Given the description of an element on the screen output the (x, y) to click on. 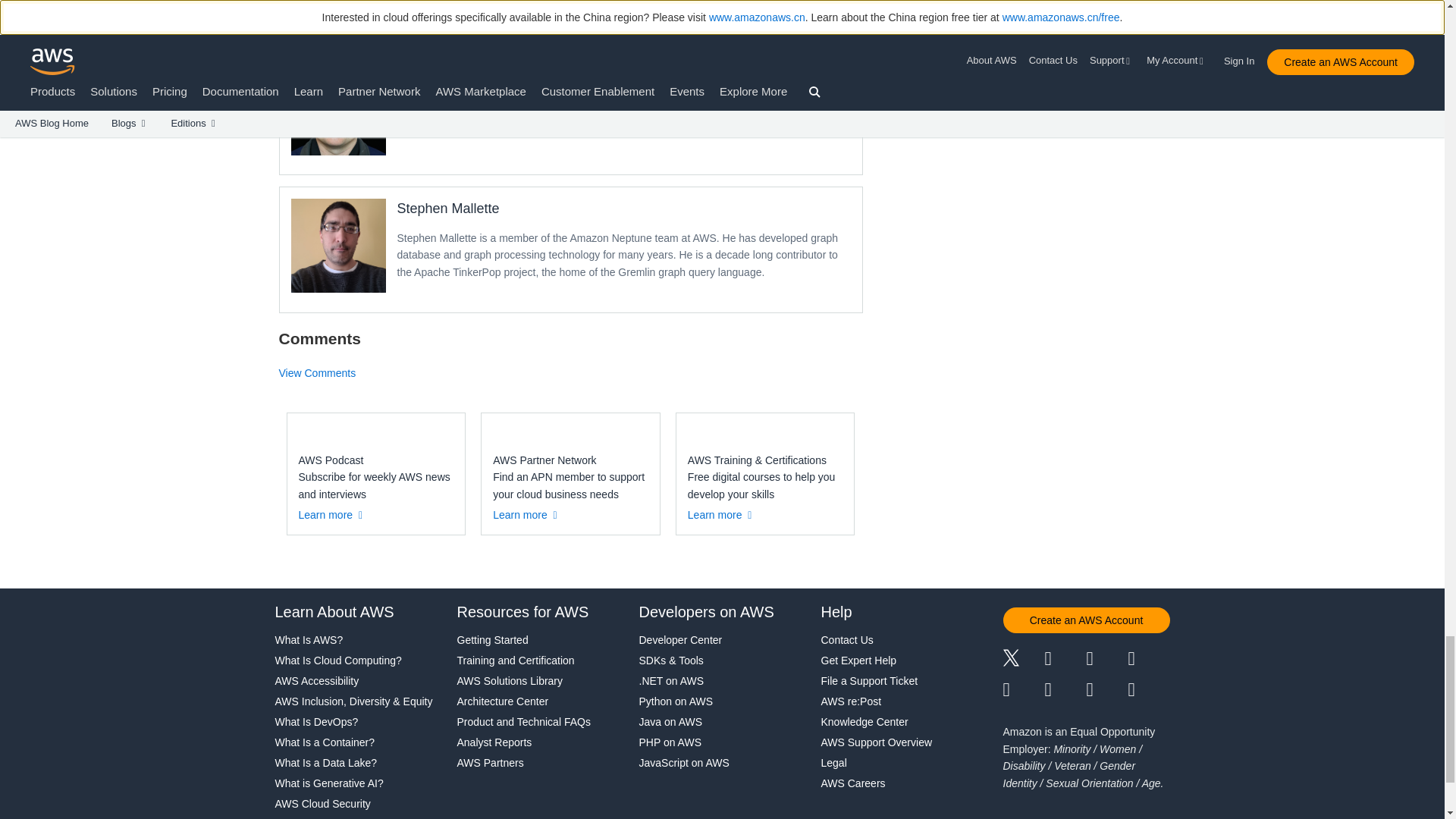
Instagram (1149, 659)
Twitter (1023, 659)
Twitch (1023, 690)
Facebook (1065, 659)
Linkedin (1106, 659)
